Given the description of an element on the screen output the (x, y) to click on. 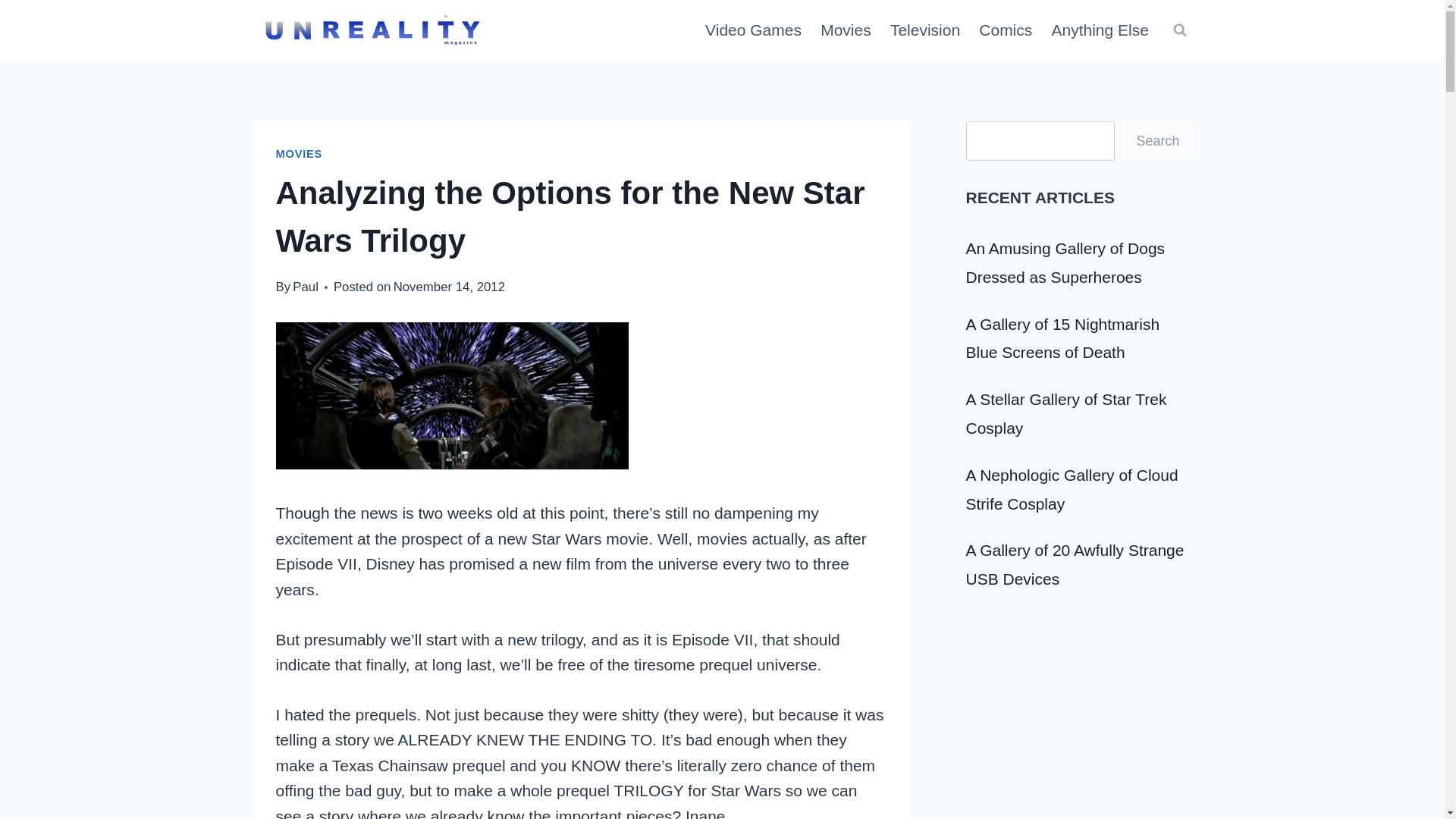
Movies (845, 30)
Paul (305, 287)
Anything Else (1100, 30)
MOVIES (299, 153)
Comics (1005, 30)
star wars options1 (452, 395)
Video Games (752, 30)
Television (924, 30)
